Given the description of an element on the screen output the (x, y) to click on. 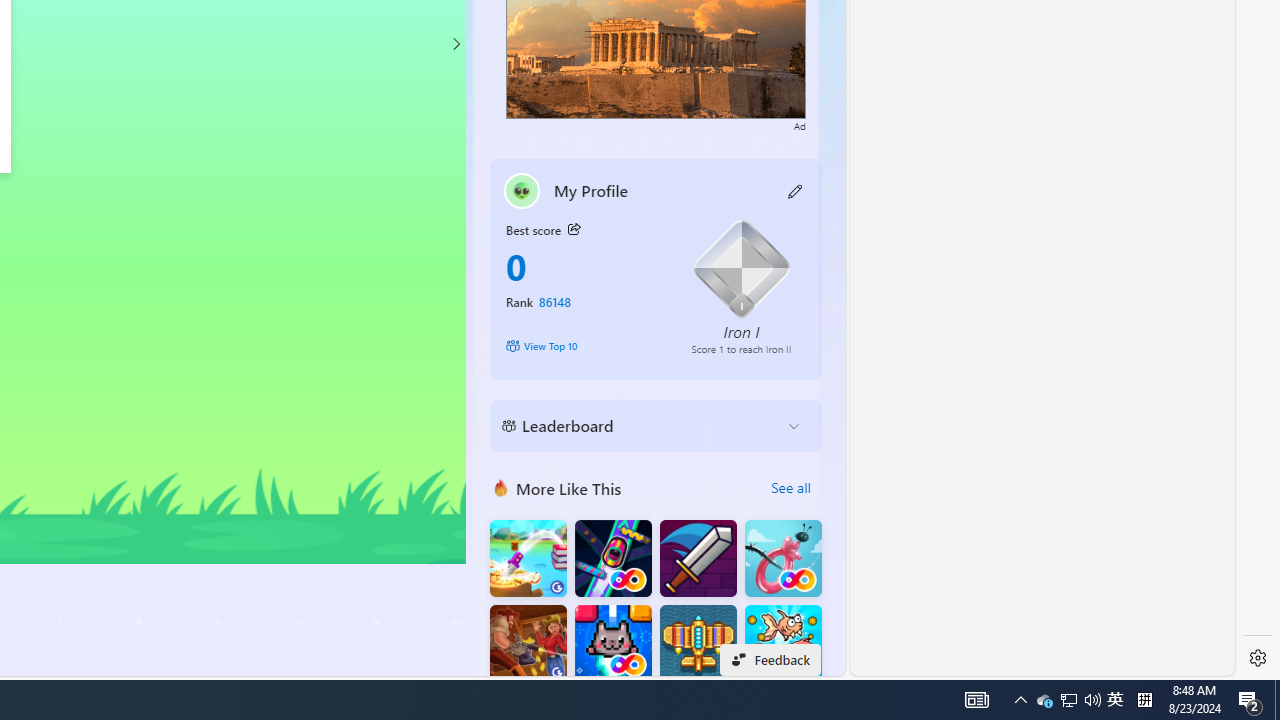
Bumper Car FRVR (612, 558)
More Like This (501, 487)
View Top 10 (584, 345)
